Given the description of an element on the screen output the (x, y) to click on. 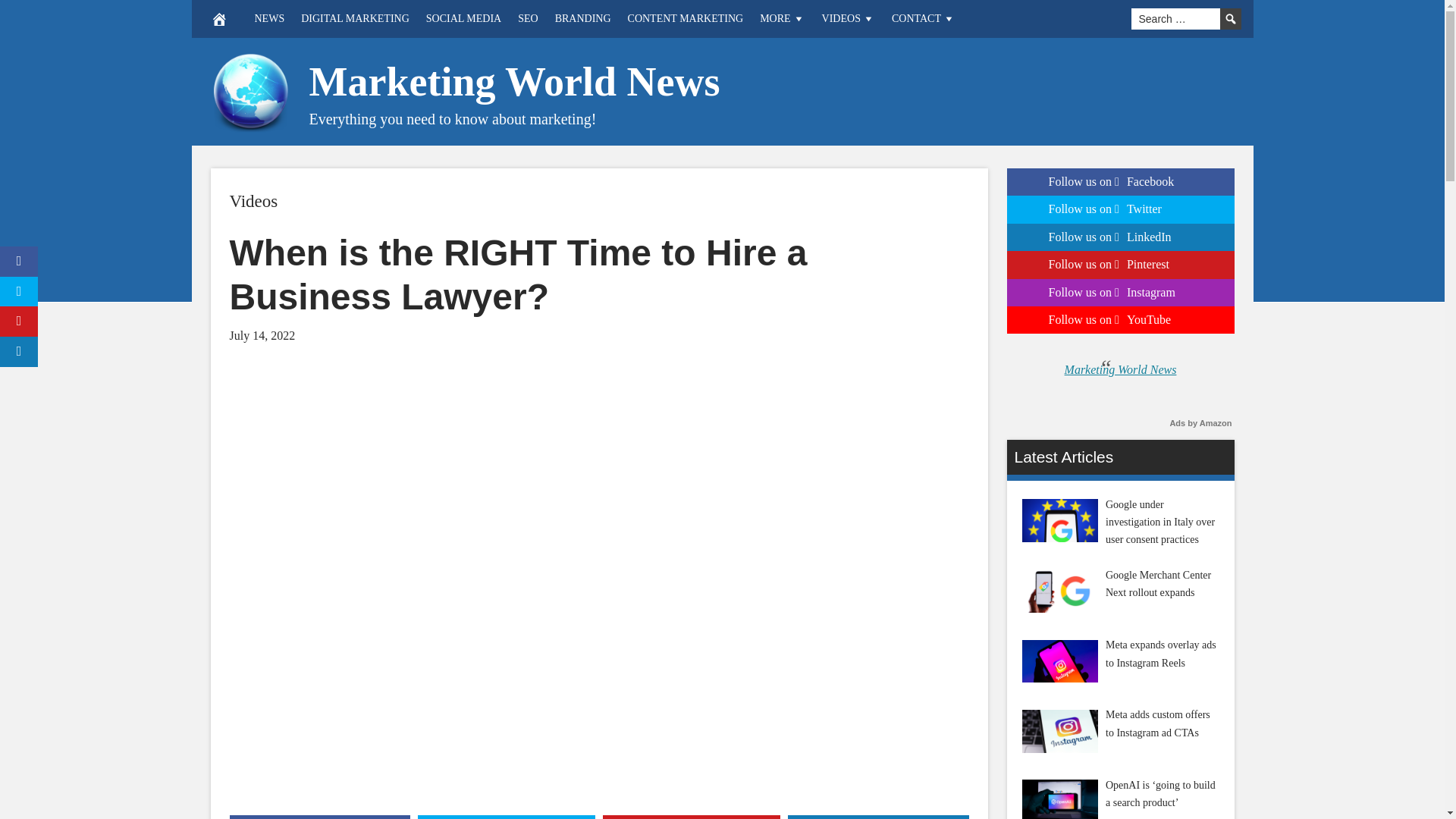
CONTENT MARKETING (686, 18)
BRANDING (583, 18)
SEO (527, 18)
Videos (253, 200)
SOCIAL MEDIA (463, 18)
NEWS (269, 18)
DIGITAL MARKETING (354, 18)
VIDEOS (848, 18)
MORE (781, 18)
